Given the description of an element on the screen output the (x, y) to click on. 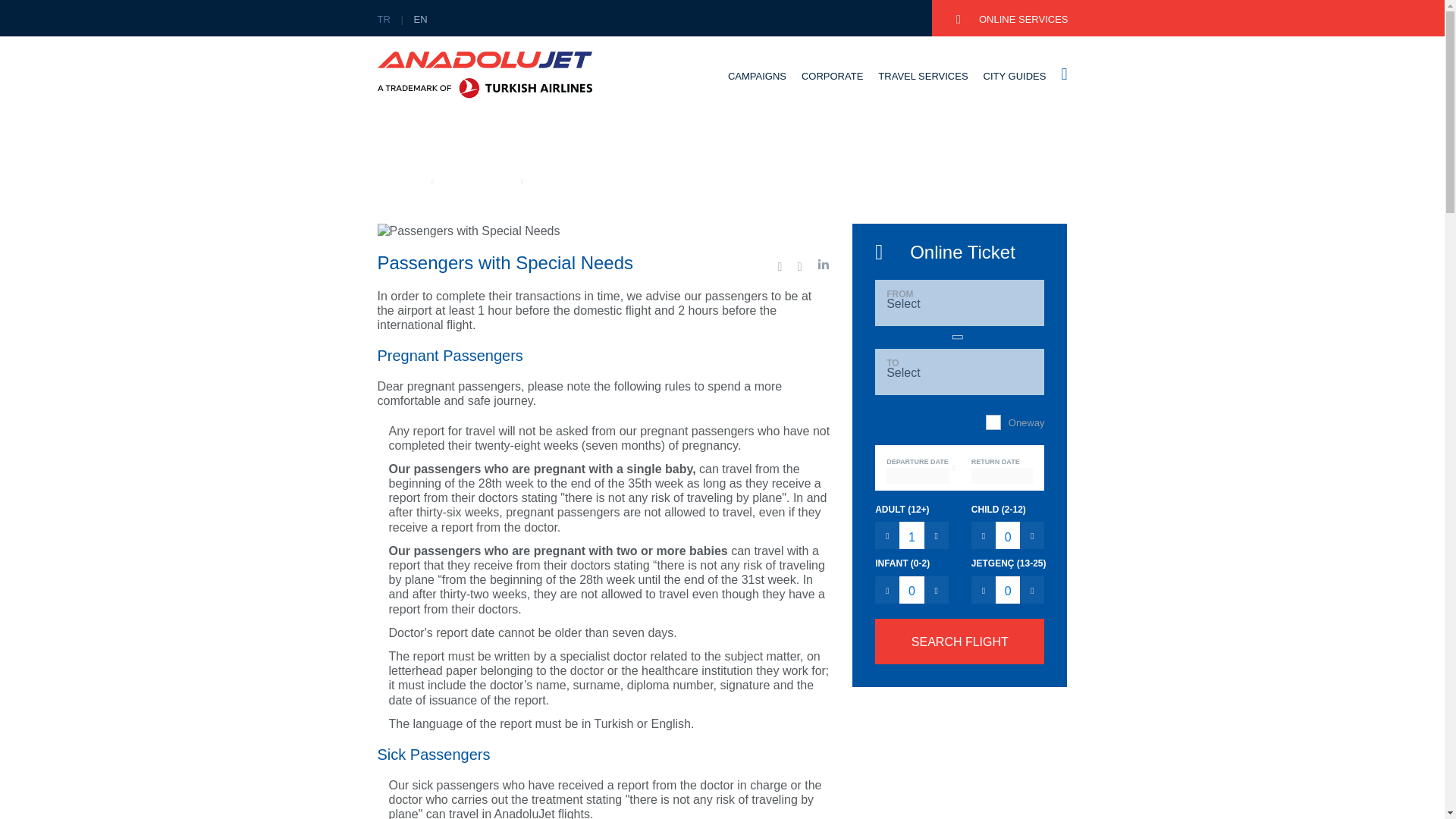
CITY GUIDES (1015, 89)
0 (1007, 589)
0 (911, 589)
Home Page (401, 180)
CORPORATE (832, 89)
0 (1007, 534)
TRAVEL SERVICES (922, 89)
ONLINE SERVICES (1012, 19)
1 (911, 534)
CAMPAIGNS (757, 89)
Online Ticket (959, 254)
EN (423, 19)
TR (387, 19)
